Given the description of an element on the screen output the (x, y) to click on. 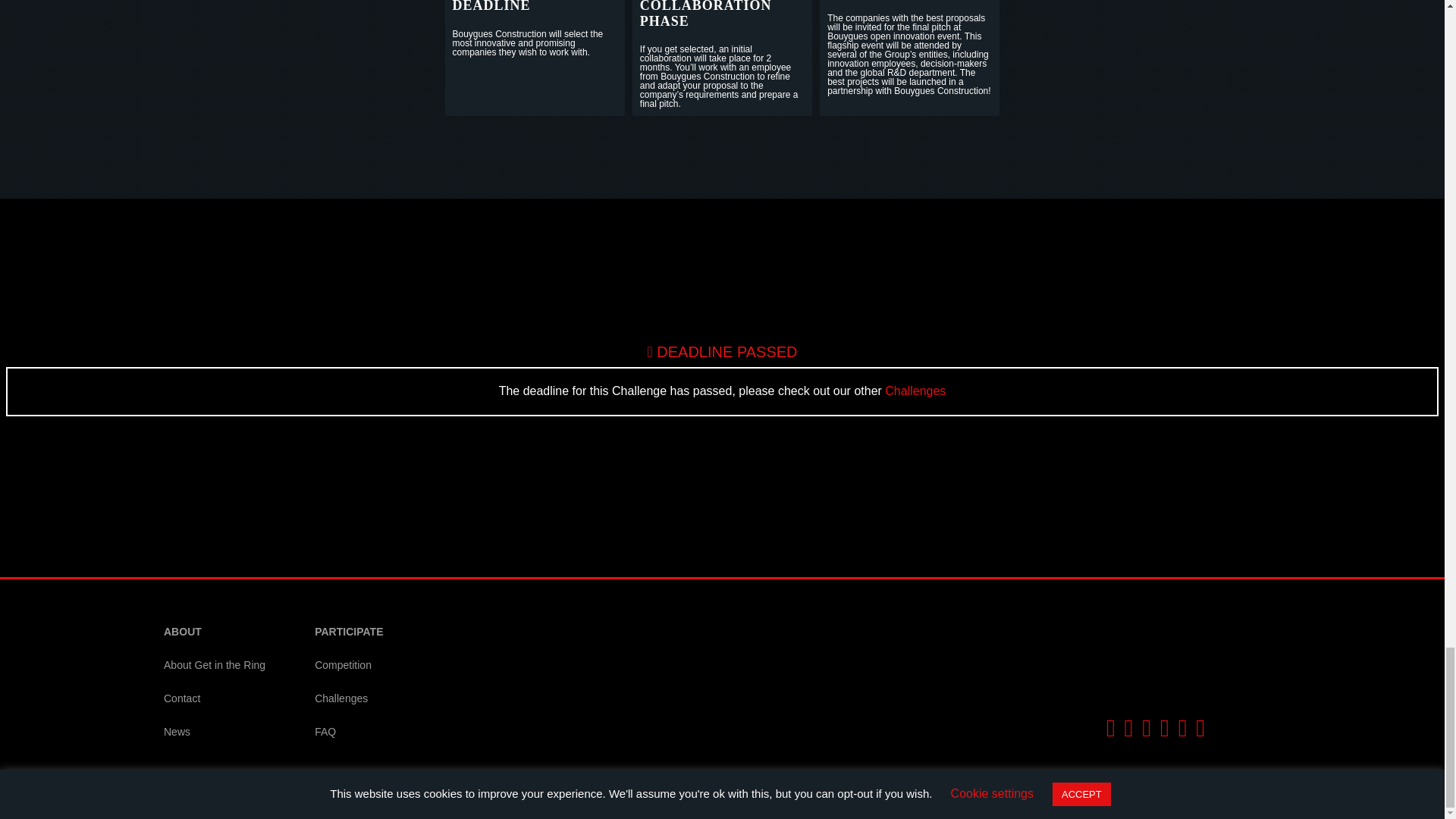
News (213, 732)
ABOUT (213, 632)
privacy policy (306, 800)
Challenges (348, 698)
Challenges (914, 390)
About Get in the Ring (213, 665)
Challenges (914, 390)
PARTICIPATE (348, 632)
Competition (348, 665)
FAQ (348, 732)
General Terms and Condition (450, 800)
Contact (213, 698)
